Given the description of an element on the screen output the (x, y) to click on. 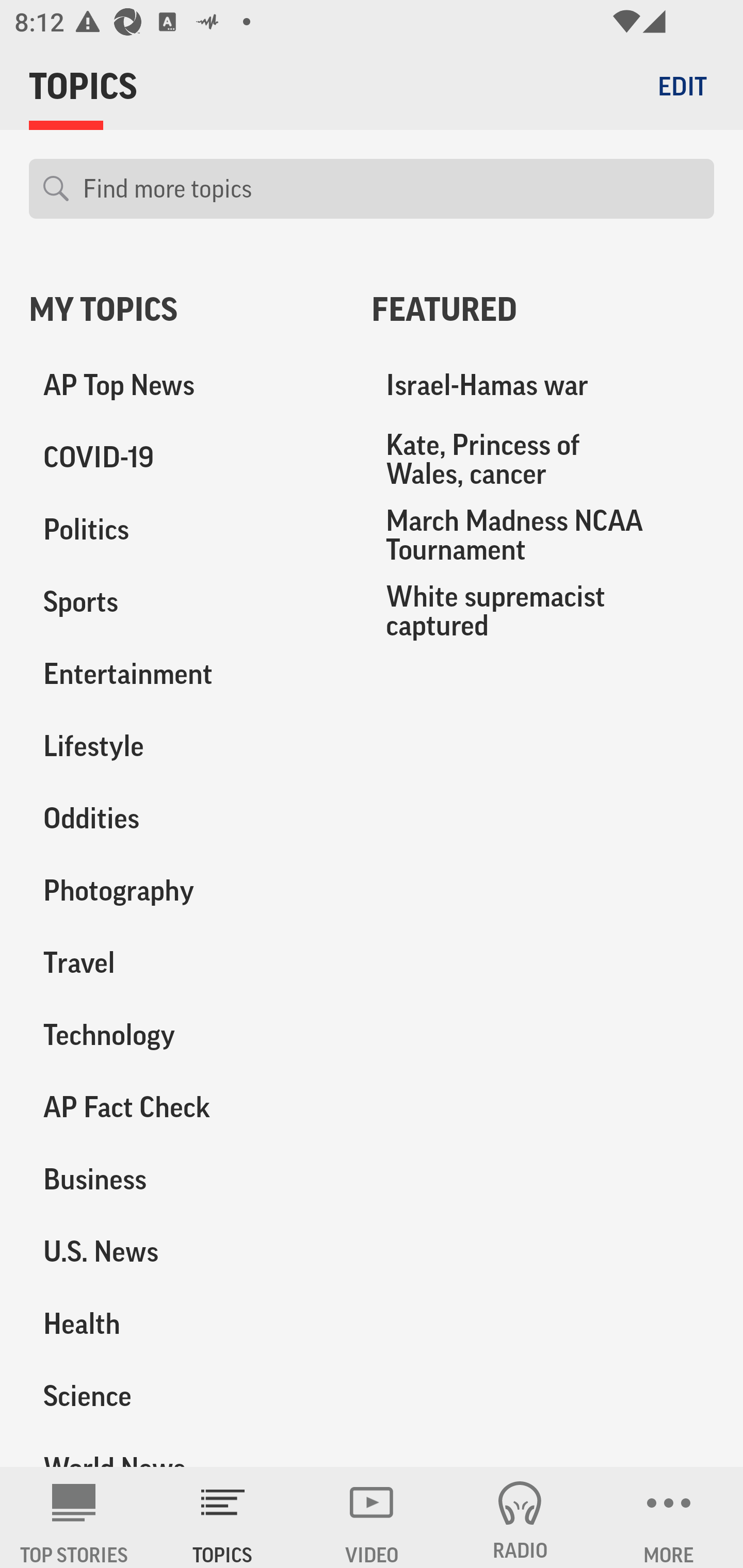
EDIT (682, 86)
Find more topics (391, 188)
AP Top News (185, 385)
Israel-Hamas war (542, 385)
COVID-19 (185, 457)
Kate, Princess of Wales, cancer (542, 459)
Politics (185, 529)
March Madness NCAA Tournament (542, 534)
Sports (185, 602)
White supremacist captured (542, 610)
Entertainment (185, 674)
Lifestyle (185, 746)
Oddities (185, 818)
Photography (185, 890)
Travel (185, 962)
Technology (185, 1034)
AP Fact Check (185, 1106)
Business (185, 1179)
U.S. News (185, 1251)
Health (185, 1323)
Science (185, 1395)
AP News TOP STORIES (74, 1517)
TOPICS (222, 1517)
VIDEO (371, 1517)
RADIO (519, 1517)
MORE (668, 1517)
